Given the description of an element on the screen output the (x, y) to click on. 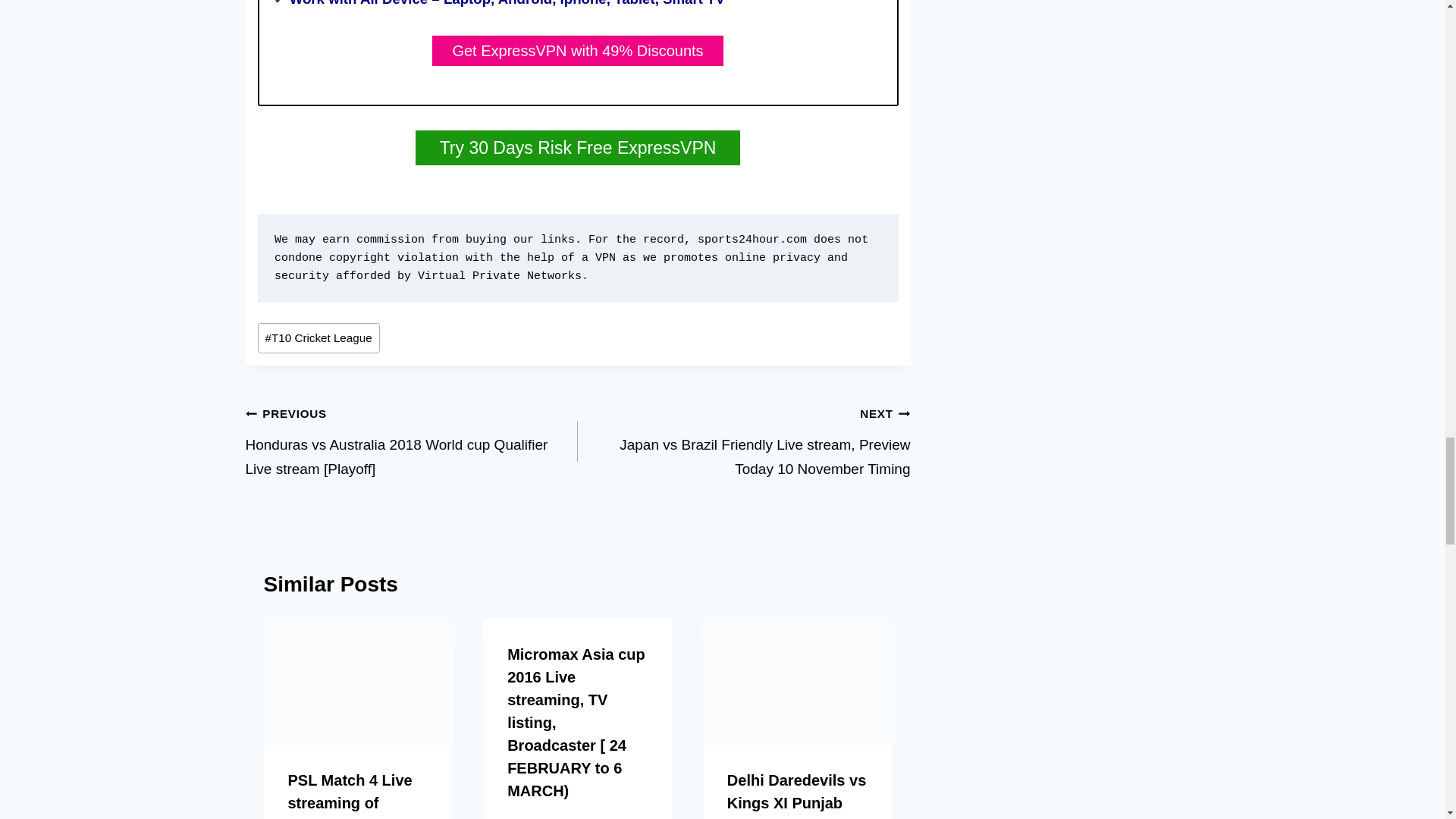
Try 30 Days Risk Free ExpressVPN (577, 147)
Kartik Shah (552, 817)
T10 Cricket League (318, 337)
